Given the description of an element on the screen output the (x, y) to click on. 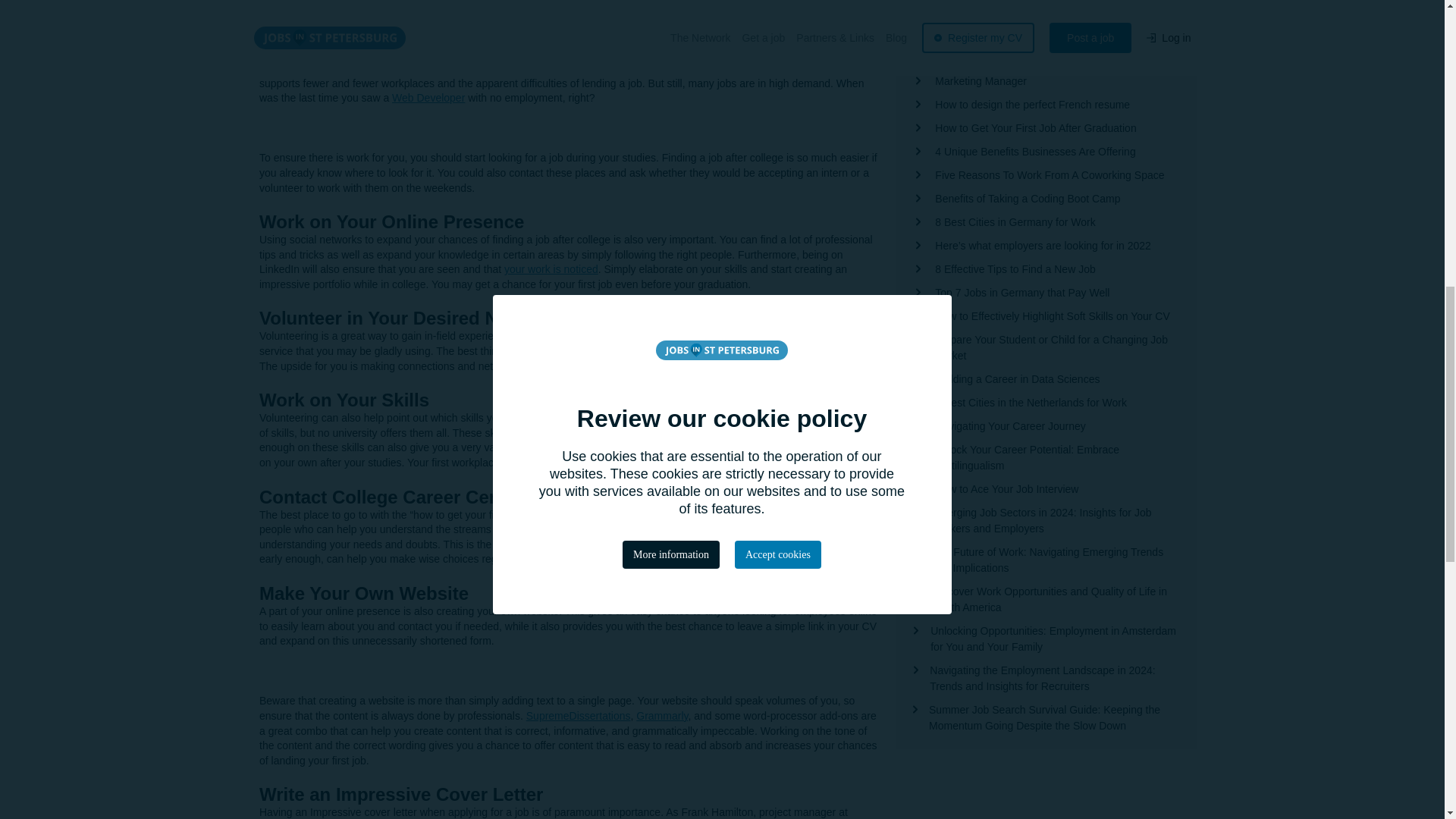
Marketing Manager (769, 417)
Financial Analyst (974, 10)
the college career center (659, 514)
Web Developer (427, 97)
SupremeDissertations (577, 715)
Grammarly (661, 715)
your work is noticed (550, 268)
